Given the description of an element on the screen output the (x, y) to click on. 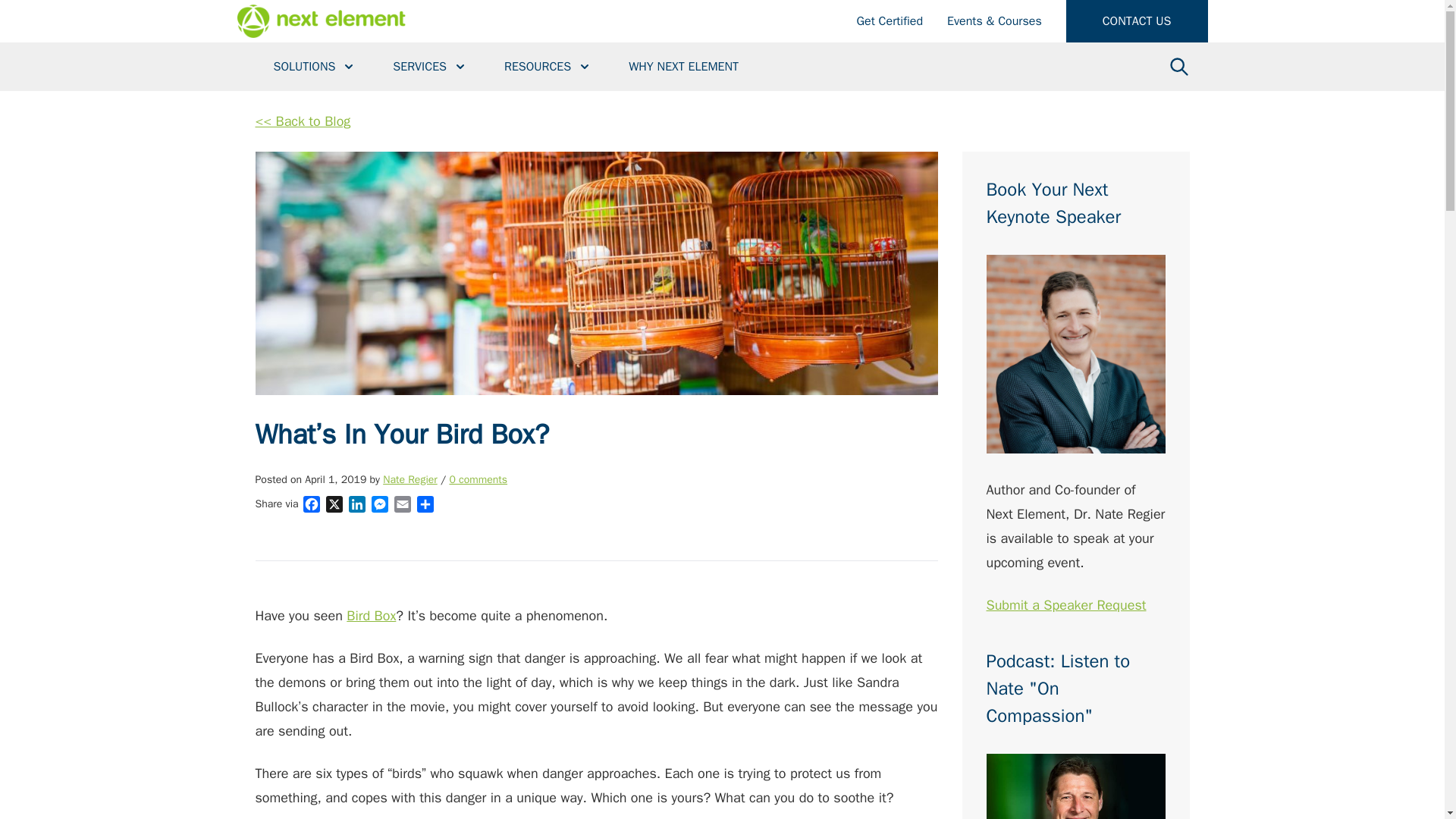
Get Certified (890, 21)
Listen to the Podcast (1074, 786)
WHY NEXT ELEMENT (683, 66)
LinkedIn (357, 506)
Submit a Speaker Request (1074, 353)
Email (402, 506)
X (334, 506)
Messenger (379, 506)
CONTACT US (1136, 21)
Facebook (311, 506)
SERVICES (430, 66)
RESOURCES (548, 66)
SOLUTIONS (314, 66)
